Given the description of an element on the screen output the (x, y) to click on. 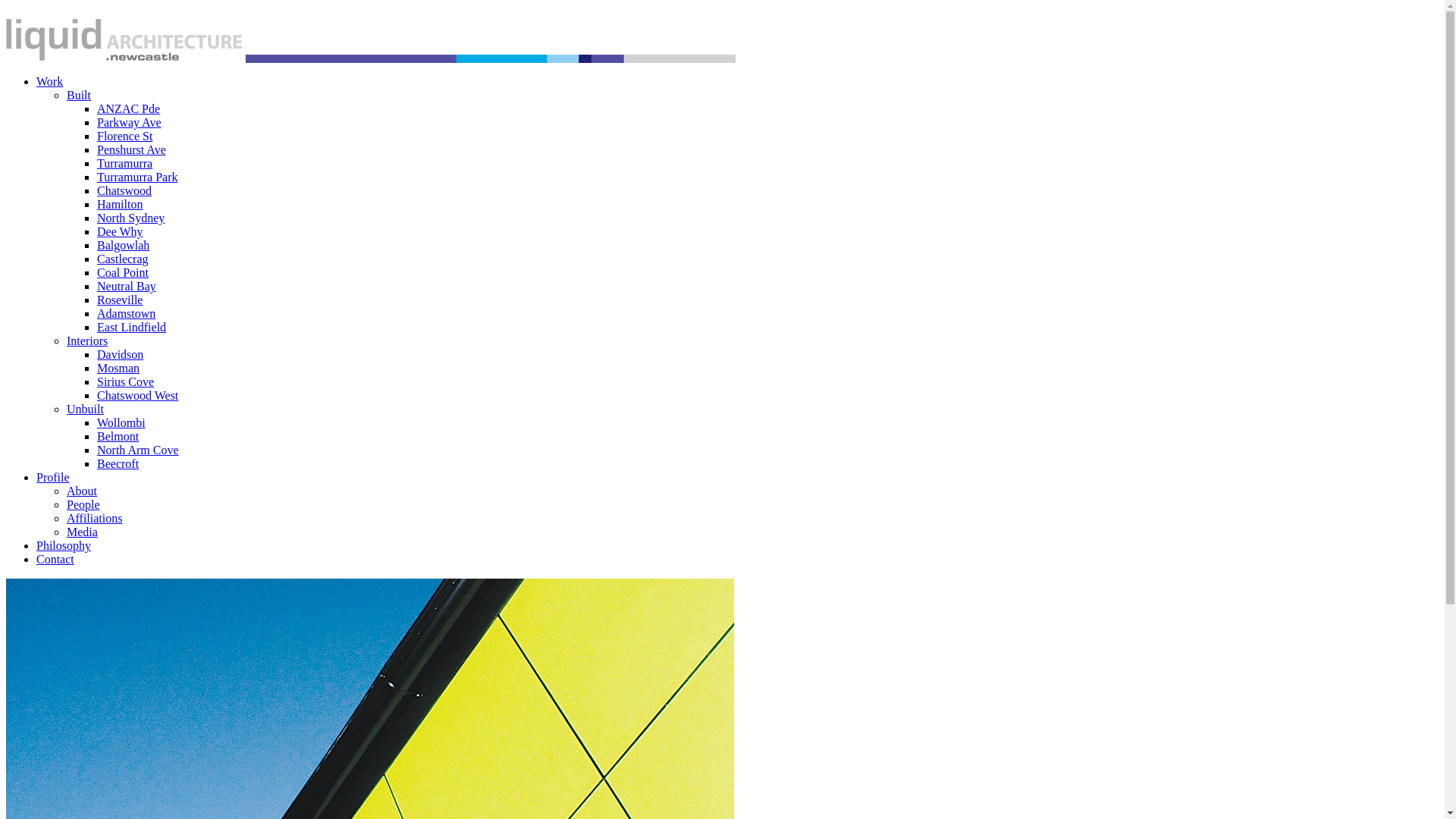
Neutral Bay Element type: text (126, 285)
Hamilton Element type: text (119, 203)
Built Element type: text (78, 94)
Belmont Element type: text (117, 435)
Turramurra Element type: text (124, 162)
Media Element type: text (81, 531)
Chatswood West Element type: text (137, 395)
Parkway Ave Element type: text (129, 122)
Sirius Cove Element type: text (125, 381)
About Element type: text (81, 490)
East Lindfield Element type: text (131, 326)
Work Element type: text (49, 81)
Mosman Element type: text (118, 367)
Wollombi Element type: text (121, 422)
Coal Point Element type: text (122, 272)
North Arm Cove Element type: text (137, 449)
Davidson Element type: text (120, 354)
Roseville Element type: text (119, 299)
North Sydney Element type: text (130, 217)
Interiors Element type: text (86, 340)
Beecroft Element type: text (117, 463)
Contact Element type: text (55, 558)
Turramurra Park Element type: text (137, 176)
Chatswood Element type: text (124, 190)
People Element type: text (83, 504)
Castlecrag Element type: text (122, 258)
Affiliations Element type: text (94, 517)
Balgowlah Element type: text (123, 244)
Adamstown Element type: text (126, 313)
Philosophy Element type: text (63, 545)
Unbuilt Element type: text (84, 408)
ANZAC Pde Element type: text (128, 108)
Profile Element type: text (52, 476)
Dee Why Element type: text (120, 231)
Florence St Element type: text (124, 135)
Penshurst Ave Element type: text (131, 149)
